Given the description of an element on the screen output the (x, y) to click on. 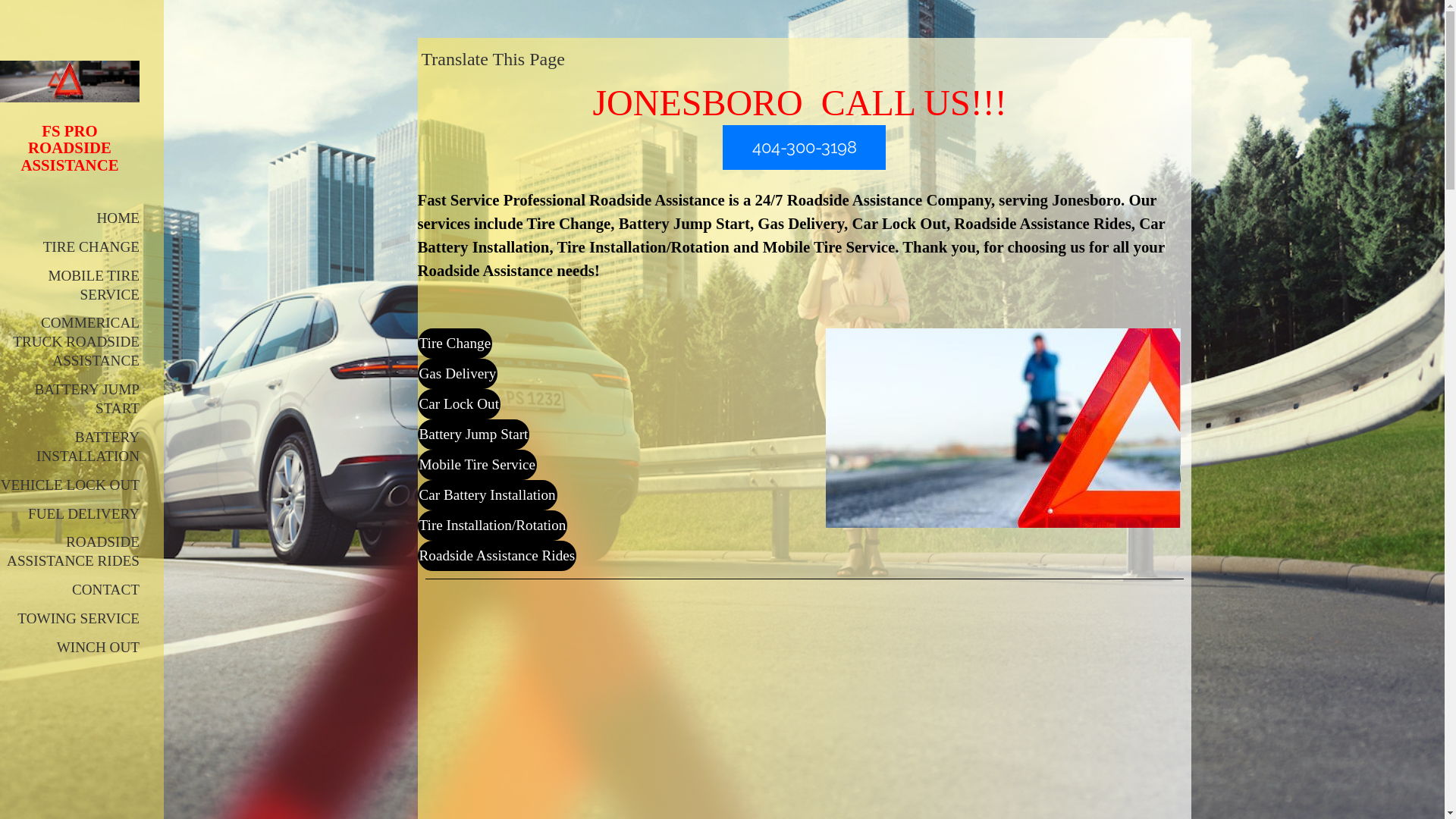
Battery Jump Start Element type: text (473, 434)
Tire Installation/Rotation Element type: text (492, 525)
Roadside Assistance Rides Element type: text (496, 555)
FUEL DELIVERY Element type: text (83, 513)
COMMERICAL TRUCK ROADSIDE ASSISTANCE Element type: text (75, 341)
ROADSIDE ASSISTANCE RIDES Element type: text (72, 550)
Car Lock Out Element type: text (458, 404)
BATTERY JUMP START Element type: text (86, 398)
404-300-3198 Element type: text (804, 147)
Mobile Tire Service Element type: text (476, 464)
Tire Change Element type: text (454, 343)
Car Battery Installation Element type: text (486, 495)
TOWING SERVICE Element type: text (78, 618)
TIRE CHANGE Element type: text (91, 246)
Gas Delivery Element type: text (457, 373)
MOBILE TIRE SERVICE Element type: text (93, 284)
HOME Element type: text (118, 217)
BATTERY INSTALLATION Element type: text (87, 446)
WINCH OUT Element type: text (97, 647)
VEHICLE LOCK OUT Element type: text (69, 484)
CONTACT Element type: text (105, 589)
